Given the description of an element on the screen output the (x, y) to click on. 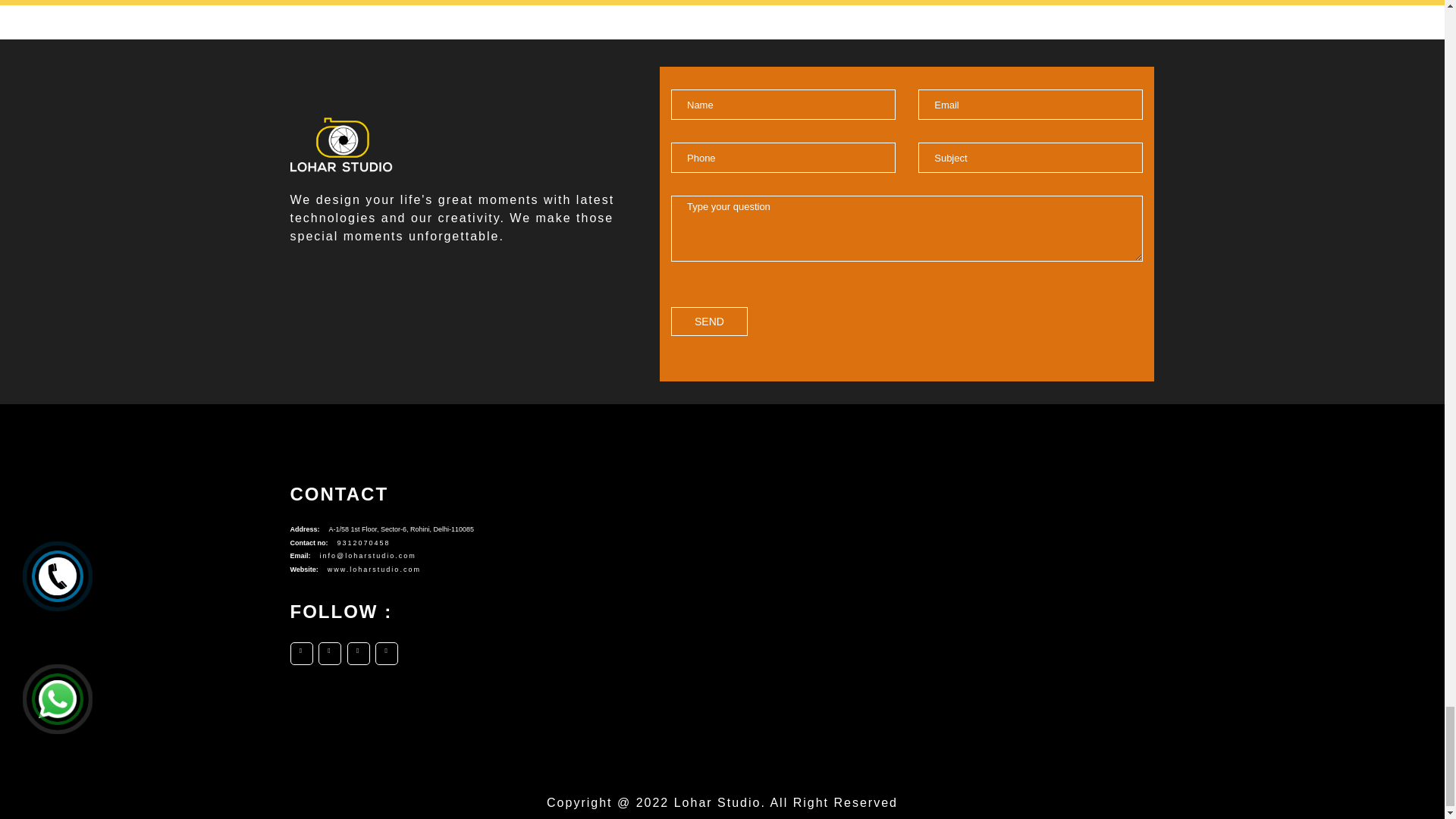
Send (709, 321)
